Given the description of an element on the screen output the (x, y) to click on. 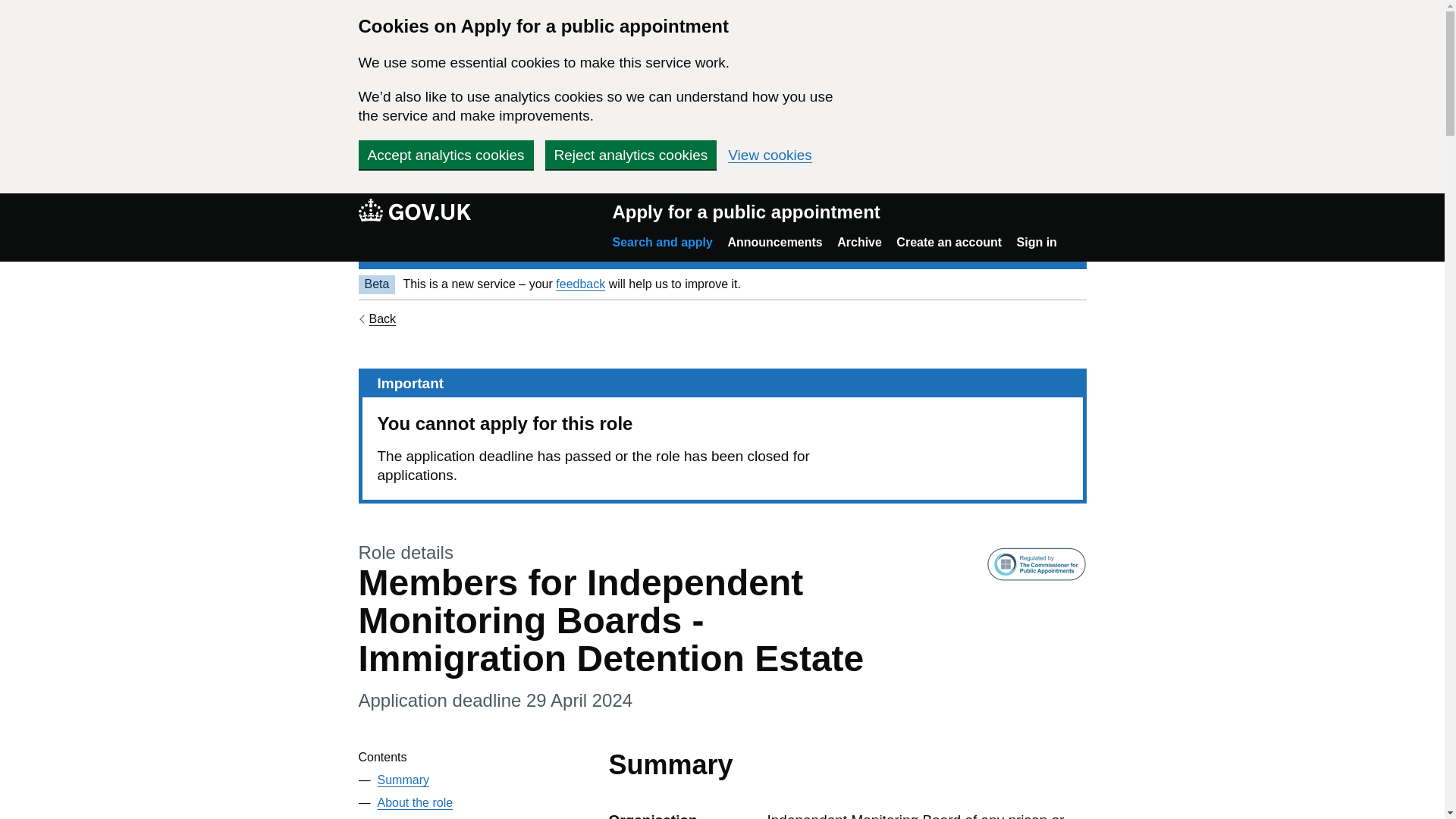
View cookies (770, 155)
Search and apply (662, 241)
GOV.UK (414, 211)
Summary (403, 779)
Apply for a public appointment (745, 211)
Sign in (1036, 241)
Announcements (774, 241)
Archive (859, 241)
About the role (414, 802)
Accept analytics cookies (445, 154)
GOV.UK (414, 210)
Create an account (948, 241)
Back (377, 319)
Reject analytics cookies (630, 154)
feedback (580, 283)
